Given the description of an element on the screen output the (x, y) to click on. 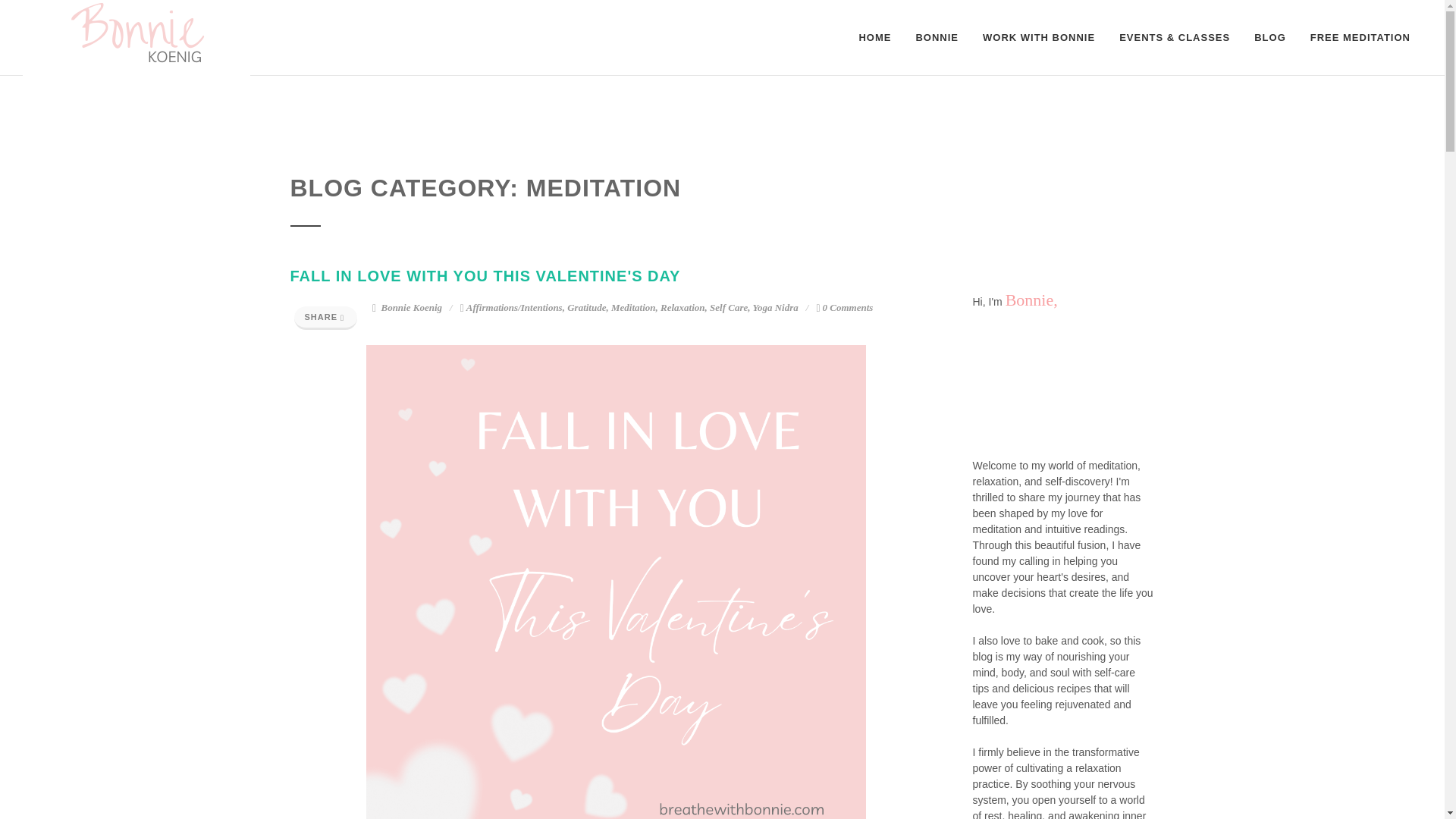
0 Comments (843, 307)
WORK WITH BONNIE (1038, 38)
SHARE (326, 318)
Gratitude (586, 307)
Meditation (633, 307)
FREE MEDITATION (1360, 38)
Relaxation (682, 307)
BONNIE (936, 38)
Yoga Nidra (774, 307)
HOME (874, 38)
FALL IN LOVE WITH YOU THIS VALENTINE'S DAY (484, 275)
BLOG (1270, 38)
Self Care (729, 307)
